Given the description of an element on the screen output the (x, y) to click on. 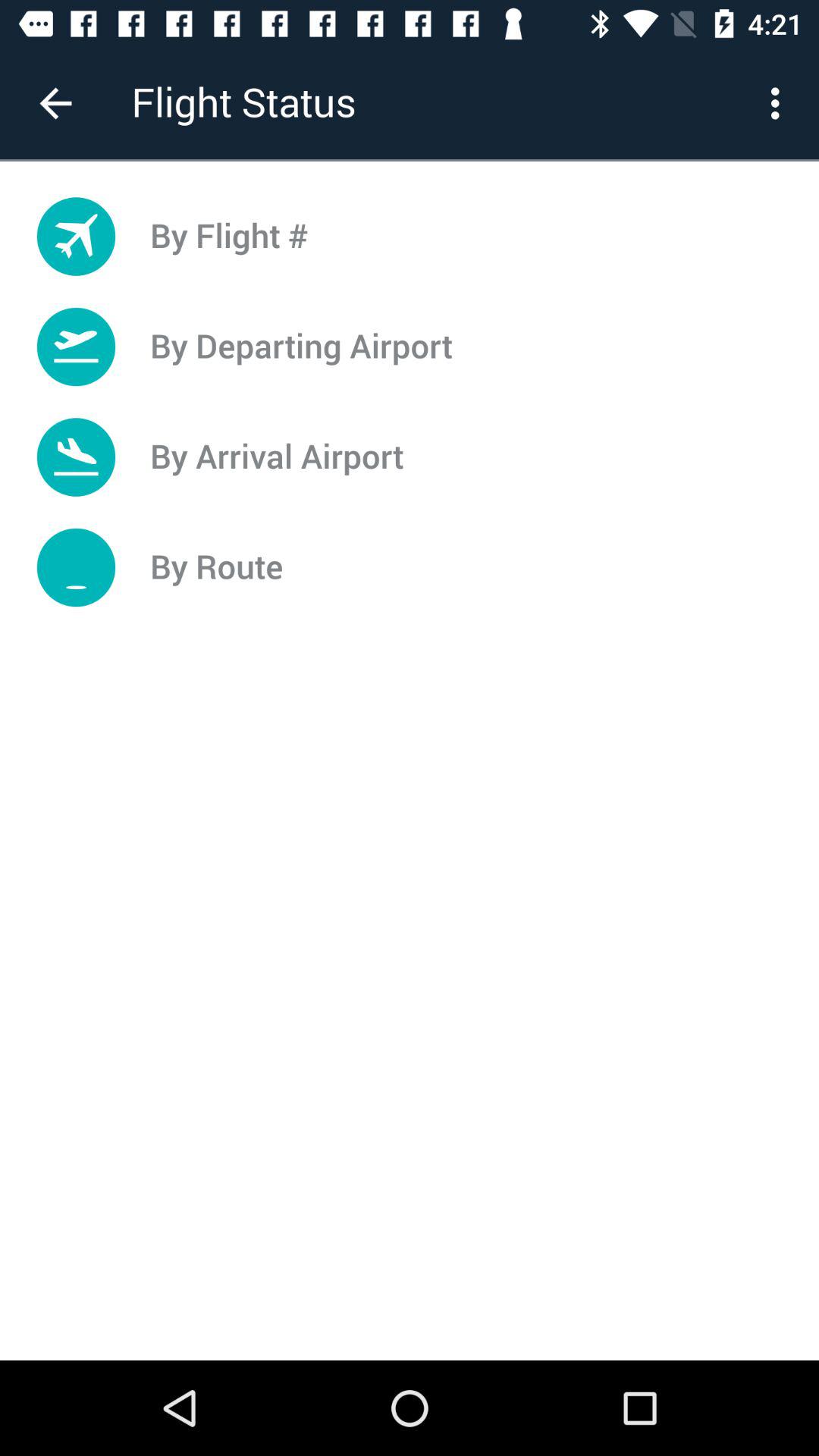
turn on item to the right of the flight status item (779, 103)
